Given the description of an element on the screen output the (x, y) to click on. 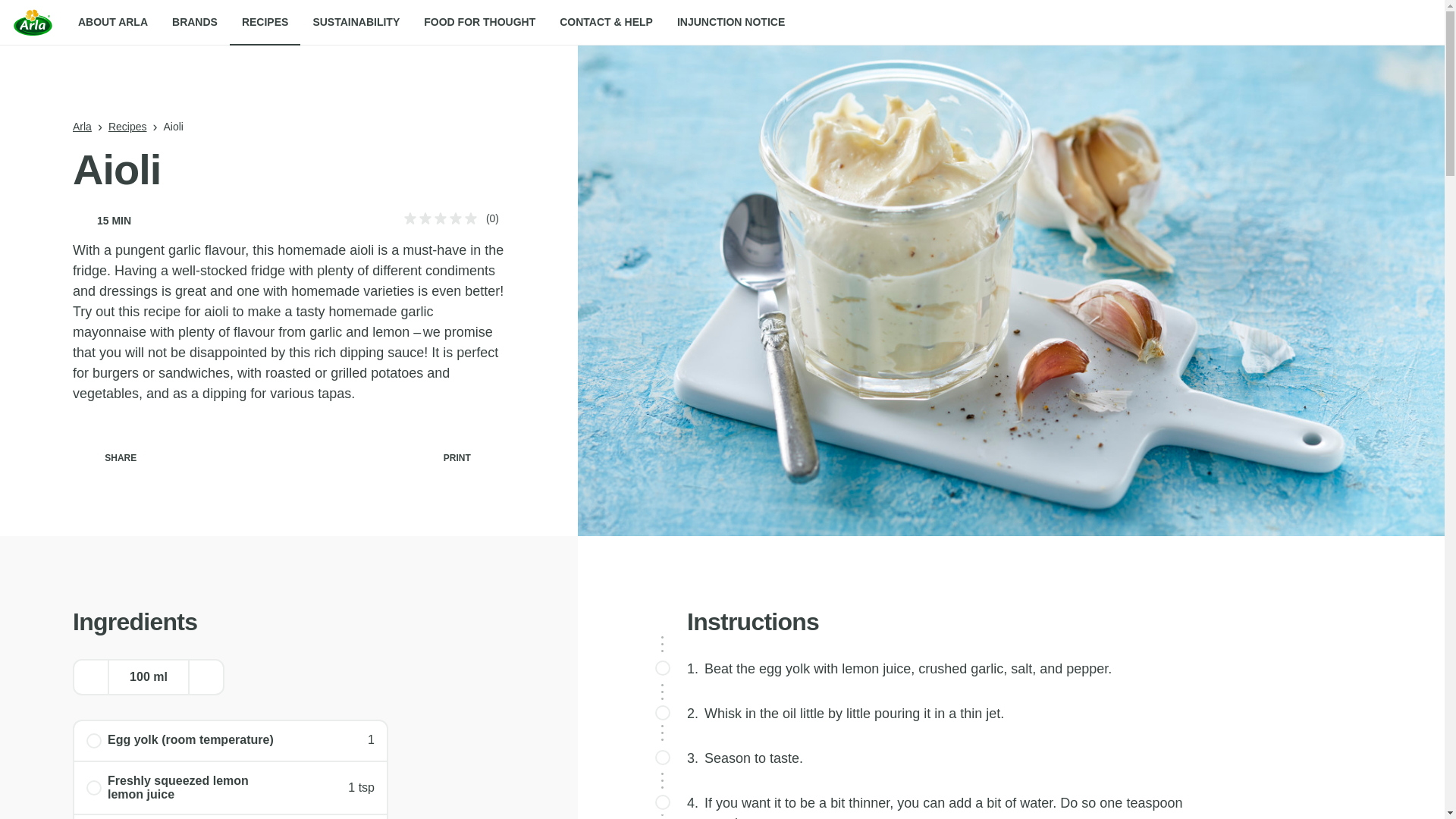
BRANDS (195, 22)
ABOUT ARLA (112, 22)
RECIPES (264, 22)
